Given the description of an element on the screen output the (x, y) to click on. 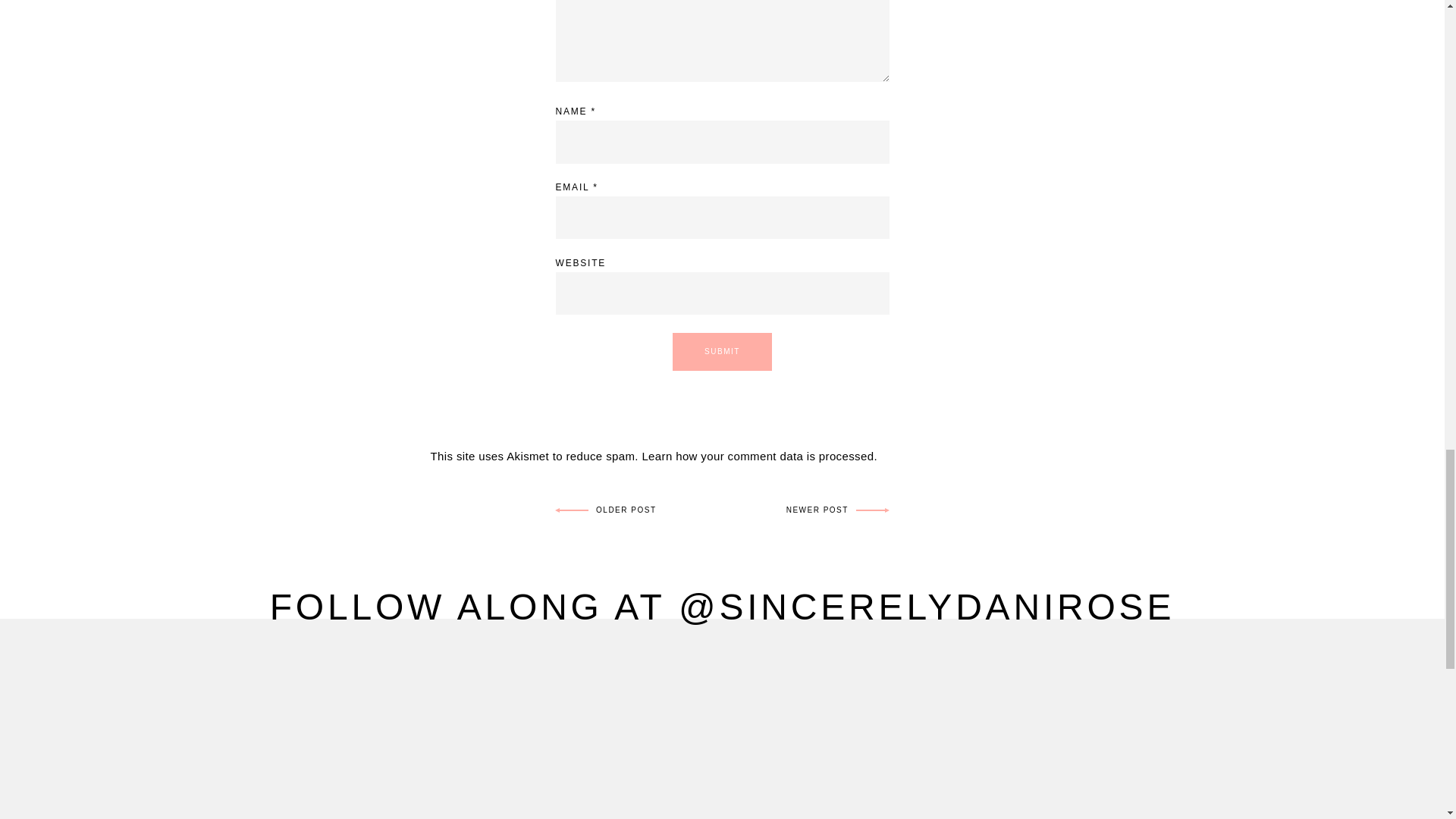
Submit (721, 351)
Submit (721, 351)
